Given the description of an element on the screen output the (x, y) to click on. 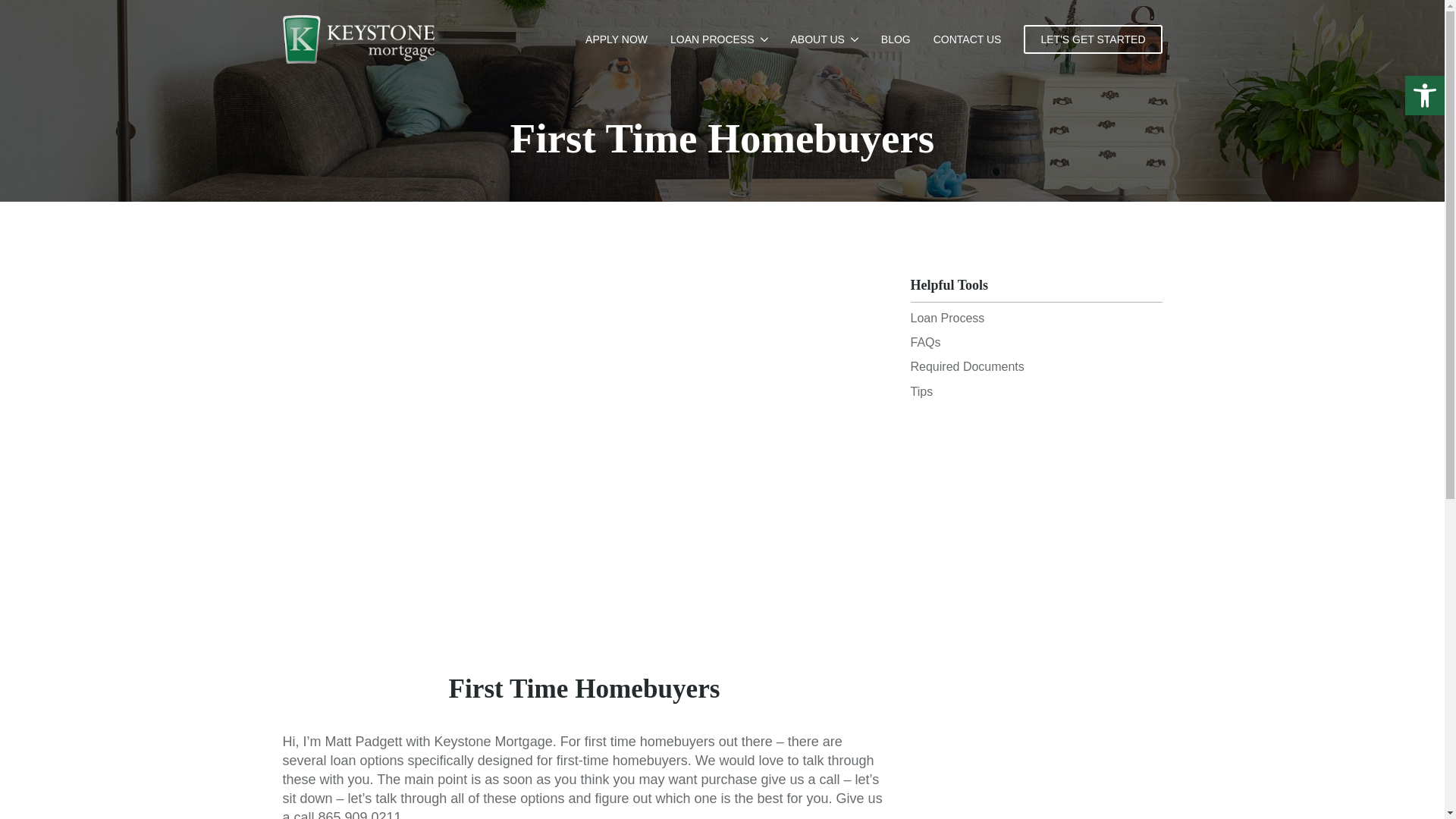
LET'S GET STARTED (1092, 39)
LOAN PROCESS (708, 38)
ABOUT US (813, 38)
Accessibility Tools (1424, 95)
CONTACT US (971, 38)
APPLY NOW (620, 38)
BLOG (899, 38)
